Given the description of an element on the screen output the (x, y) to click on. 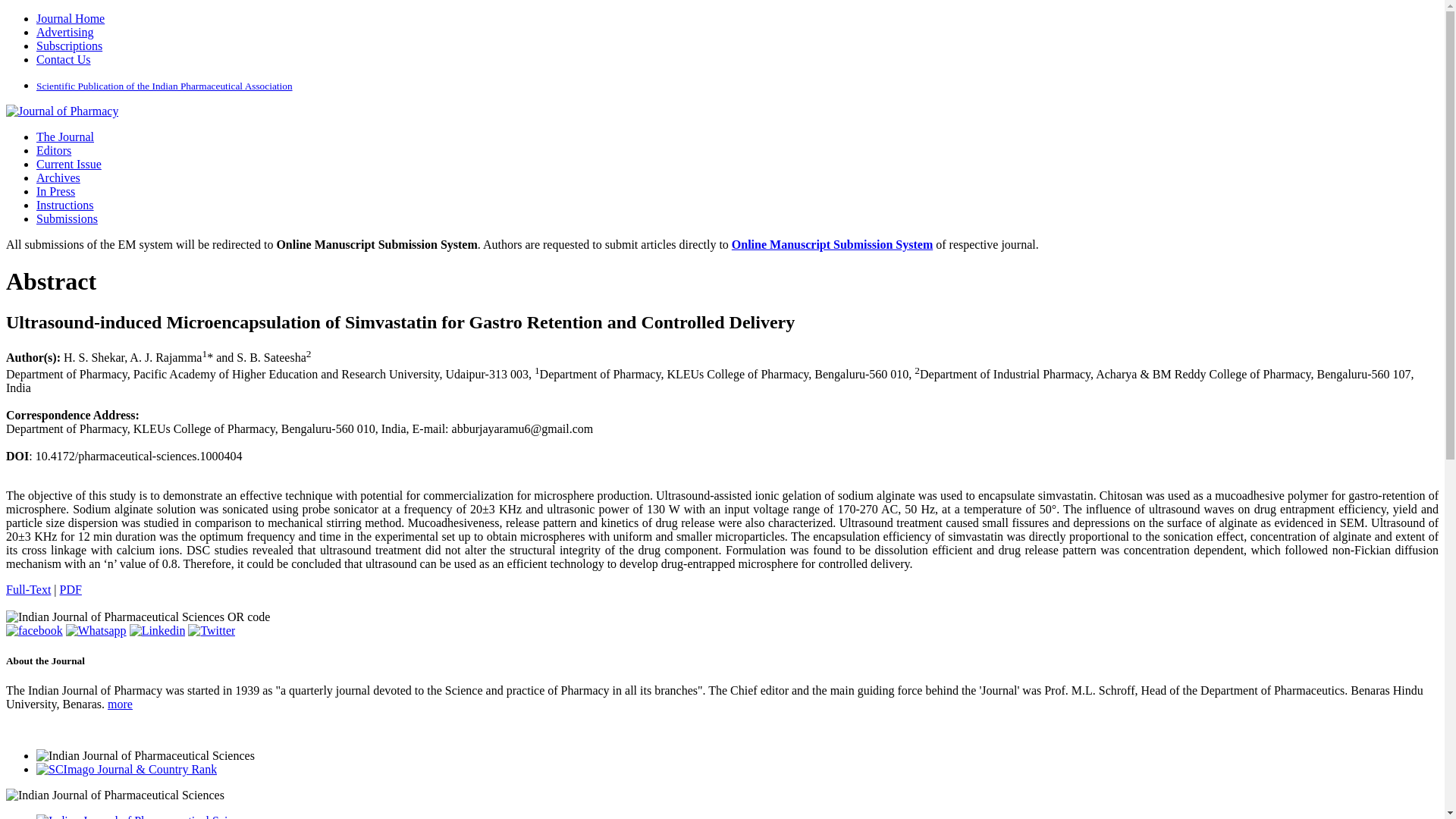
PDF (70, 589)
Current Issue (68, 164)
Subscriptions (68, 45)
more (119, 703)
Editors (53, 150)
Current Issue (68, 164)
Online Submission (66, 218)
Instructions (65, 205)
Journal Home (70, 18)
Indian Journal of Pharmaceutical Sciences (61, 110)
The Journal (65, 136)
Submissions (66, 218)
Contact Us (63, 59)
QR (137, 617)
Instructions (65, 205)
